Given the description of an element on the screen output the (x, y) to click on. 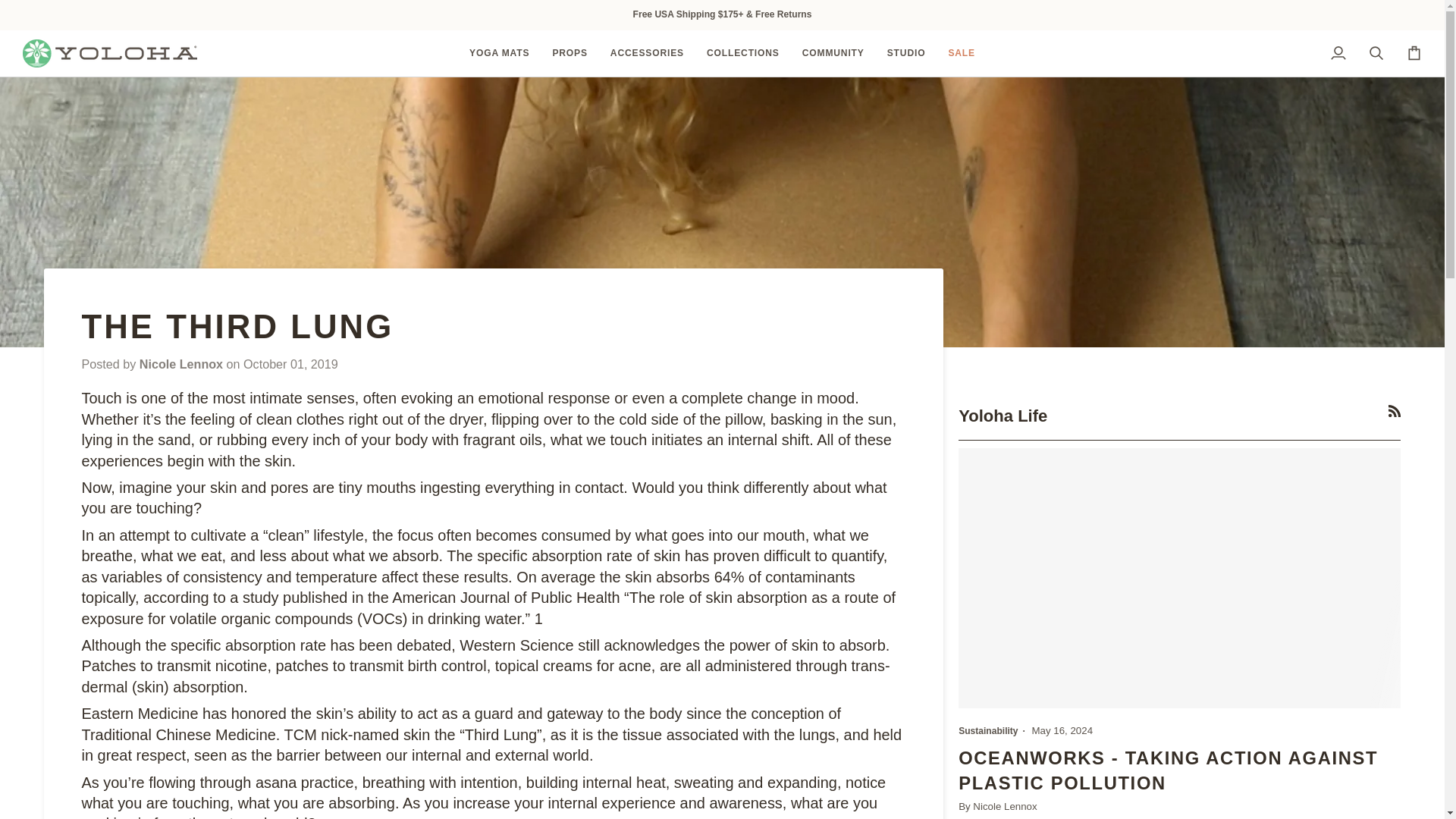
COLLECTIONS (742, 53)
ACCESSORIES (646, 53)
YOGA MATS (499, 53)
COMMUNITY (833, 53)
PROPS (569, 53)
Yoloha Yoga RSS (1394, 410)
